Given the description of an element on the screen output the (x, y) to click on. 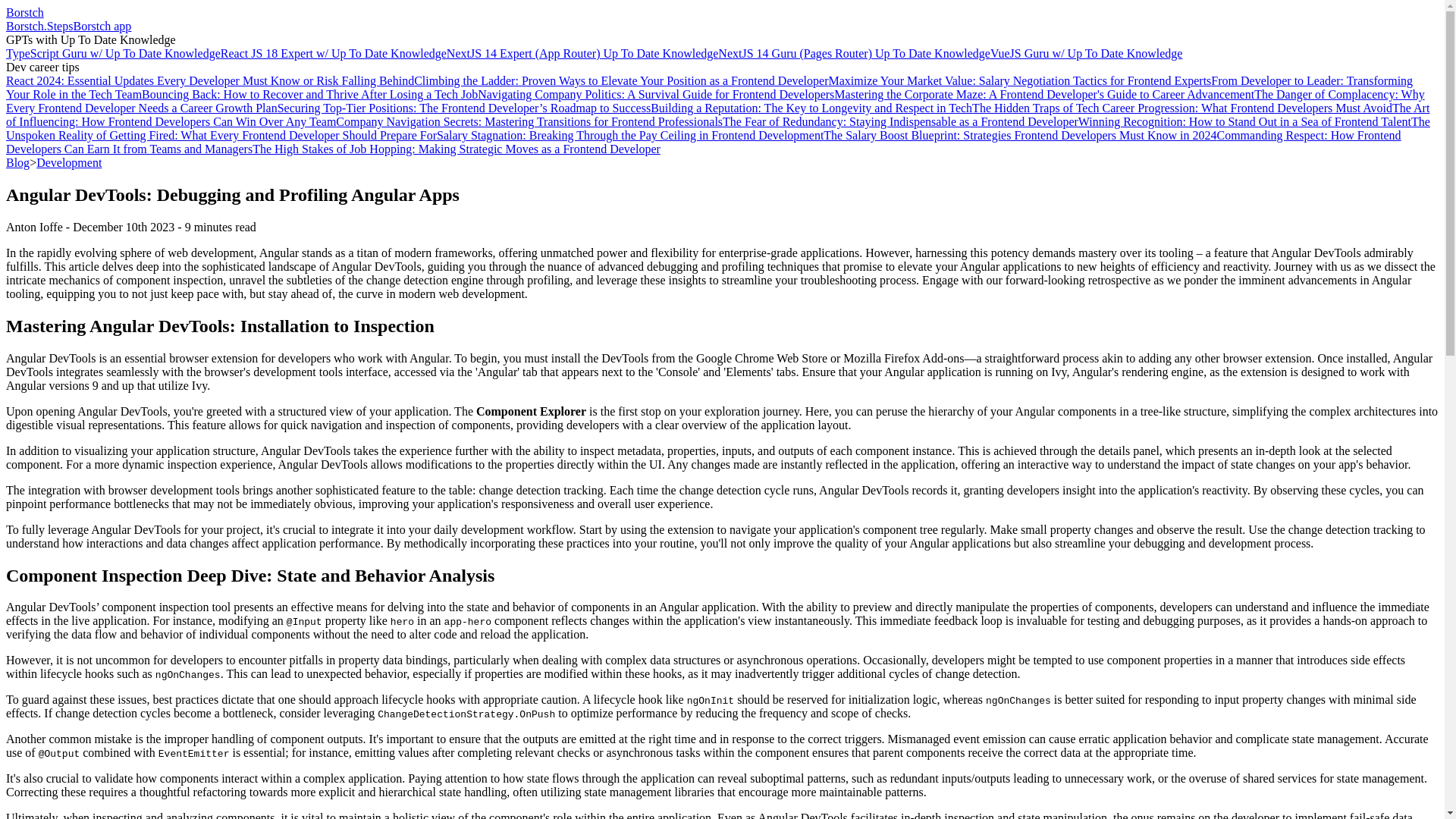
Blog (17, 162)
Borstch app (101, 25)
